Given the description of an element on the screen output the (x, y) to click on. 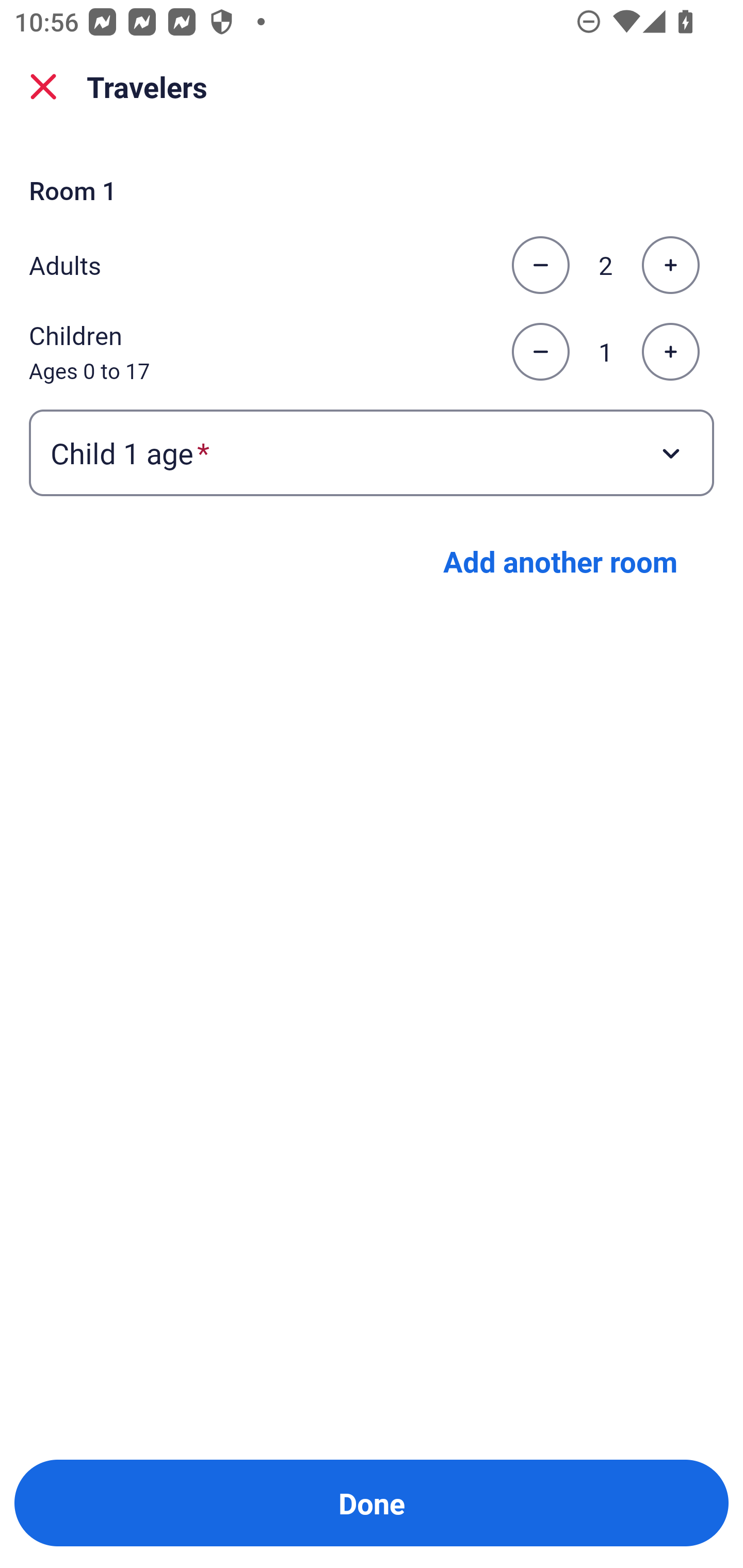
close (43, 86)
Decrease the number of adults (540, 264)
Increase the number of adults (670, 264)
Decrease the number of children (540, 351)
Increase the number of children (670, 351)
Child 1 age required Button (371, 452)
Add another room (560, 561)
Done (371, 1502)
